Given the description of an element on the screen output the (x, y) to click on. 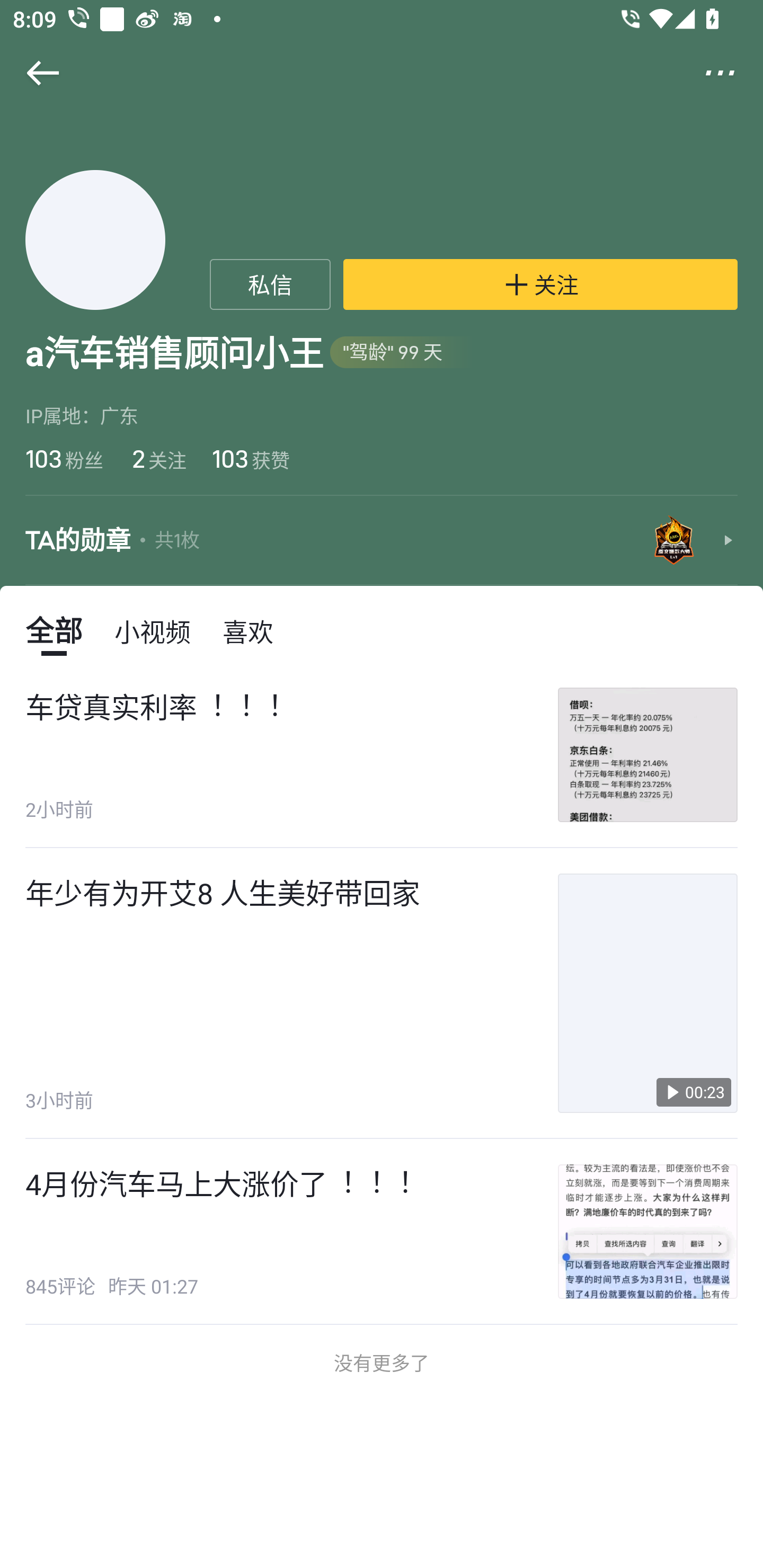
 (30, 72)
 (732, 72)
私信 (269, 284)
 关注 (540, 284)
"驾龄" 99 天 (402, 352)
103 粉丝 (64, 458)
2 关注 (157, 458)
103 获赞 (250, 458)
TA的勋章 共1枚  (381, 539)
全部 (53, 629)
小视频 (152, 629)
喜欢 (247, 629)
车贷真实利率︕︕︕ 2小时前 (381, 754)
车贷真实利率︕︕︕ (154, 706)
年少有为开艾8 人生美好带回家 3小时前  00:23 (381, 993)
年少有为开艾8 人生美好带回家 (222, 892)
4月份汽车马上大涨价了︕︕︕ 845评论 昨天 01:27 (381, 1231)
4月份汽车马上大涨价了︕︕︕ (219, 1183)
